Given the description of an element on the screen output the (x, y) to click on. 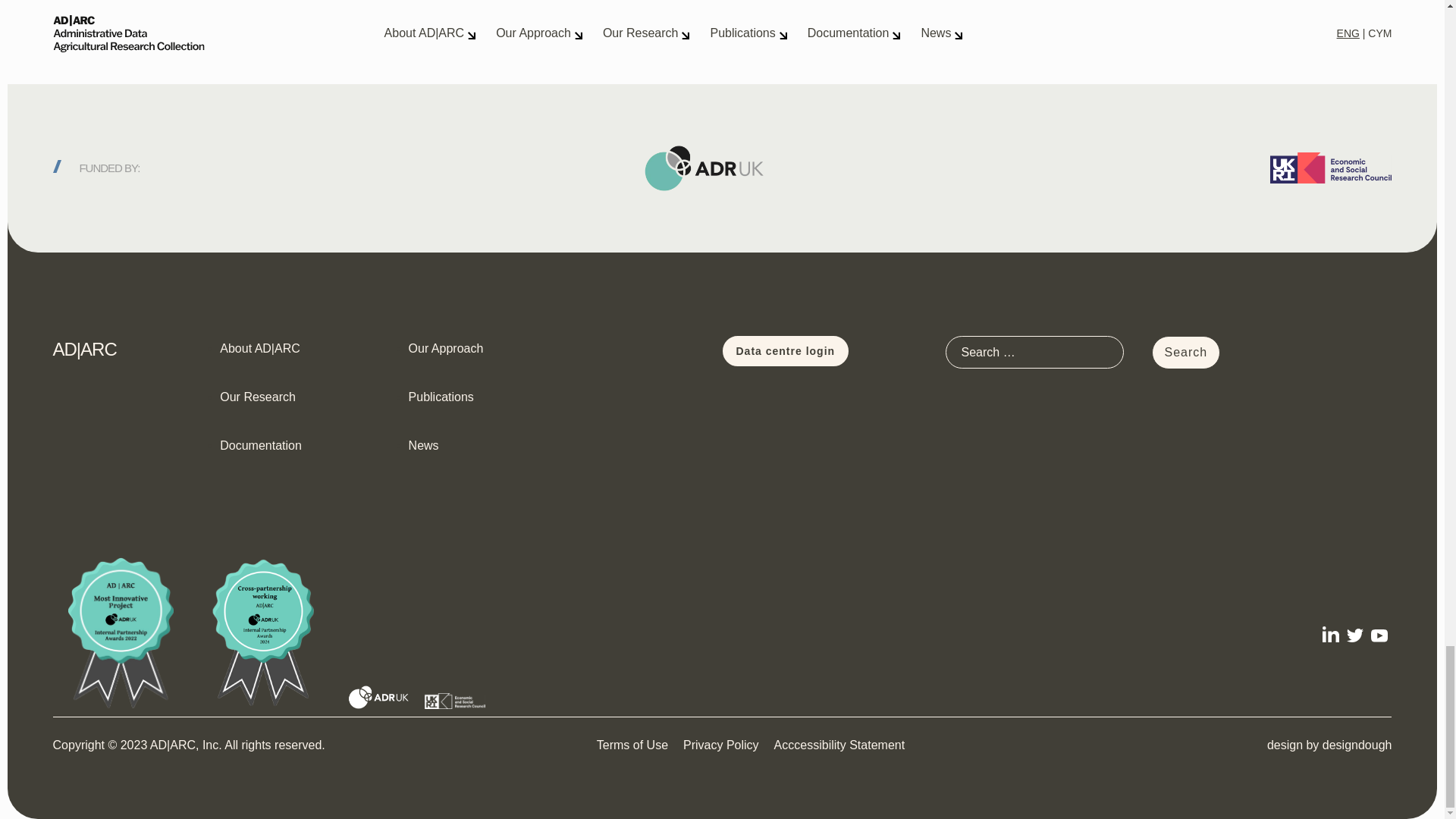
partner logo (120, 633)
partner logo (379, 697)
partner logo (264, 633)
Search (1186, 352)
partner logo (454, 700)
